Given the description of an element on the screen output the (x, y) to click on. 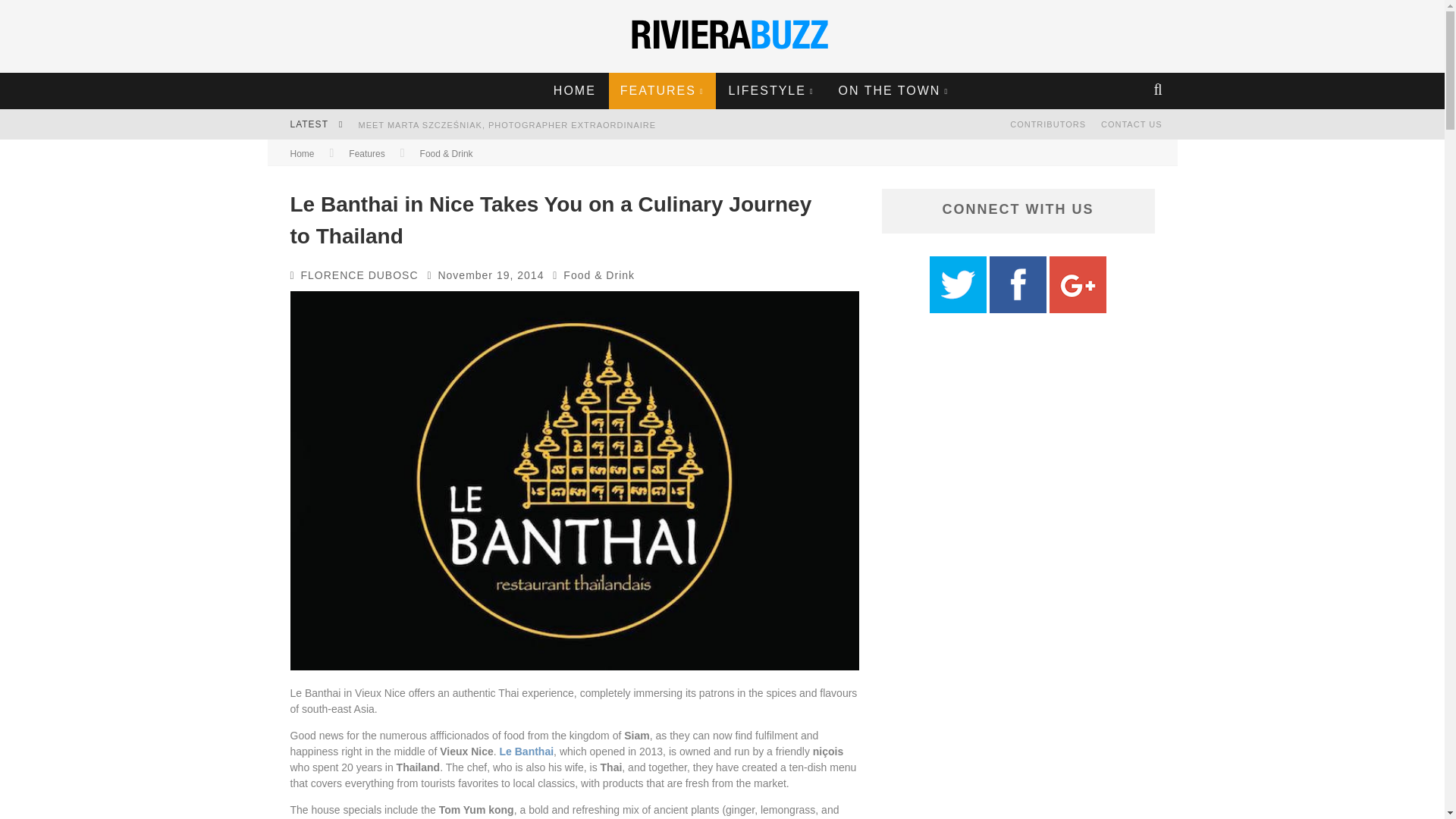
View all posts in Features (366, 153)
LIFESTYLE (770, 90)
HOME (574, 90)
FEATURES (662, 90)
